Given the description of an element on the screen output the (x, y) to click on. 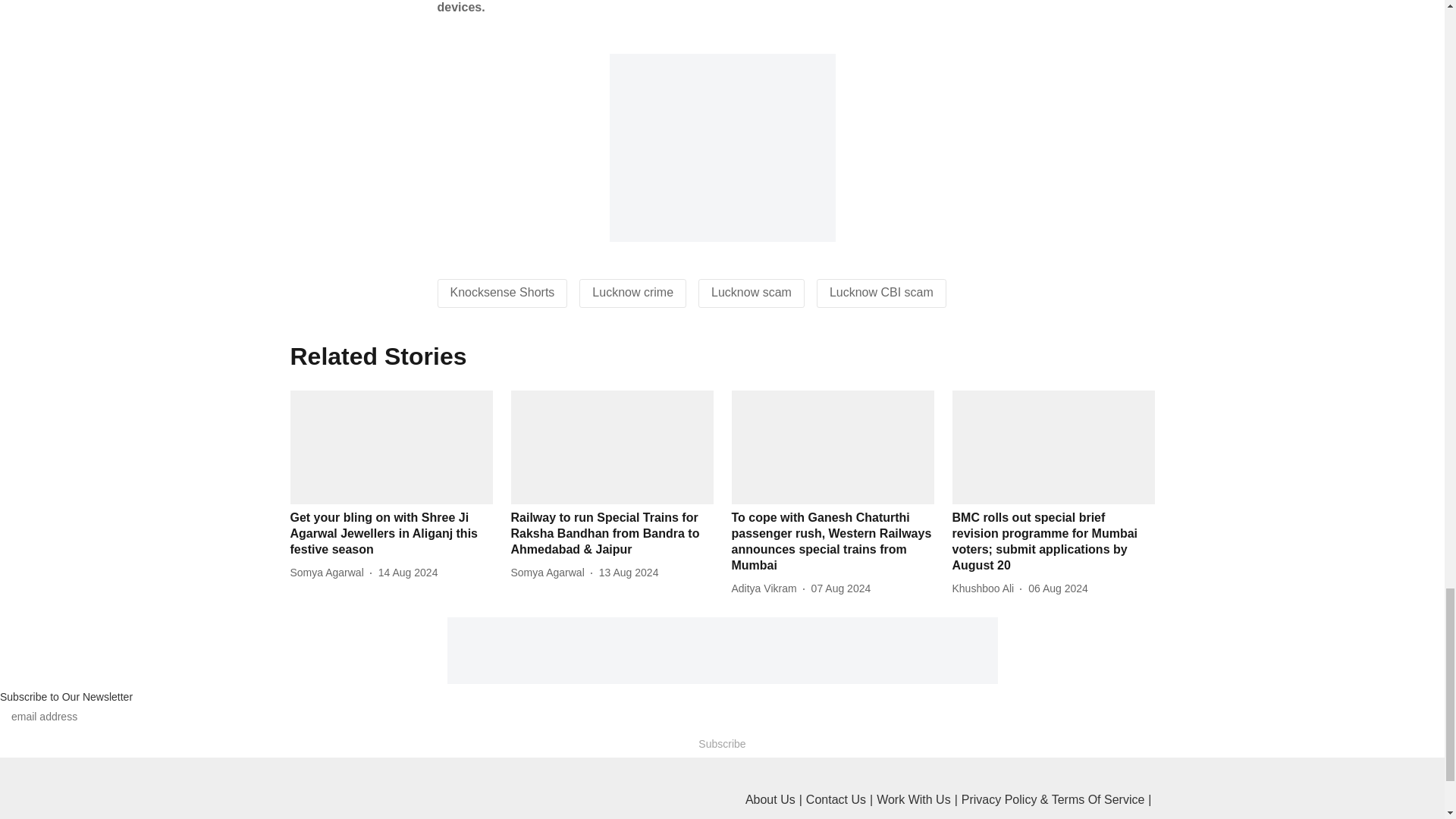
2024-08-13 12:12 (628, 572)
Somya Agarwal (329, 572)
2024-08-14 06:22 (408, 572)
Lucknow CBI scam (881, 291)
Somya Agarwal (551, 572)
Lucknow crime (632, 291)
Lucknow scam (751, 291)
Knocksense Shorts (501, 291)
